Given the description of an element on the screen output the (x, y) to click on. 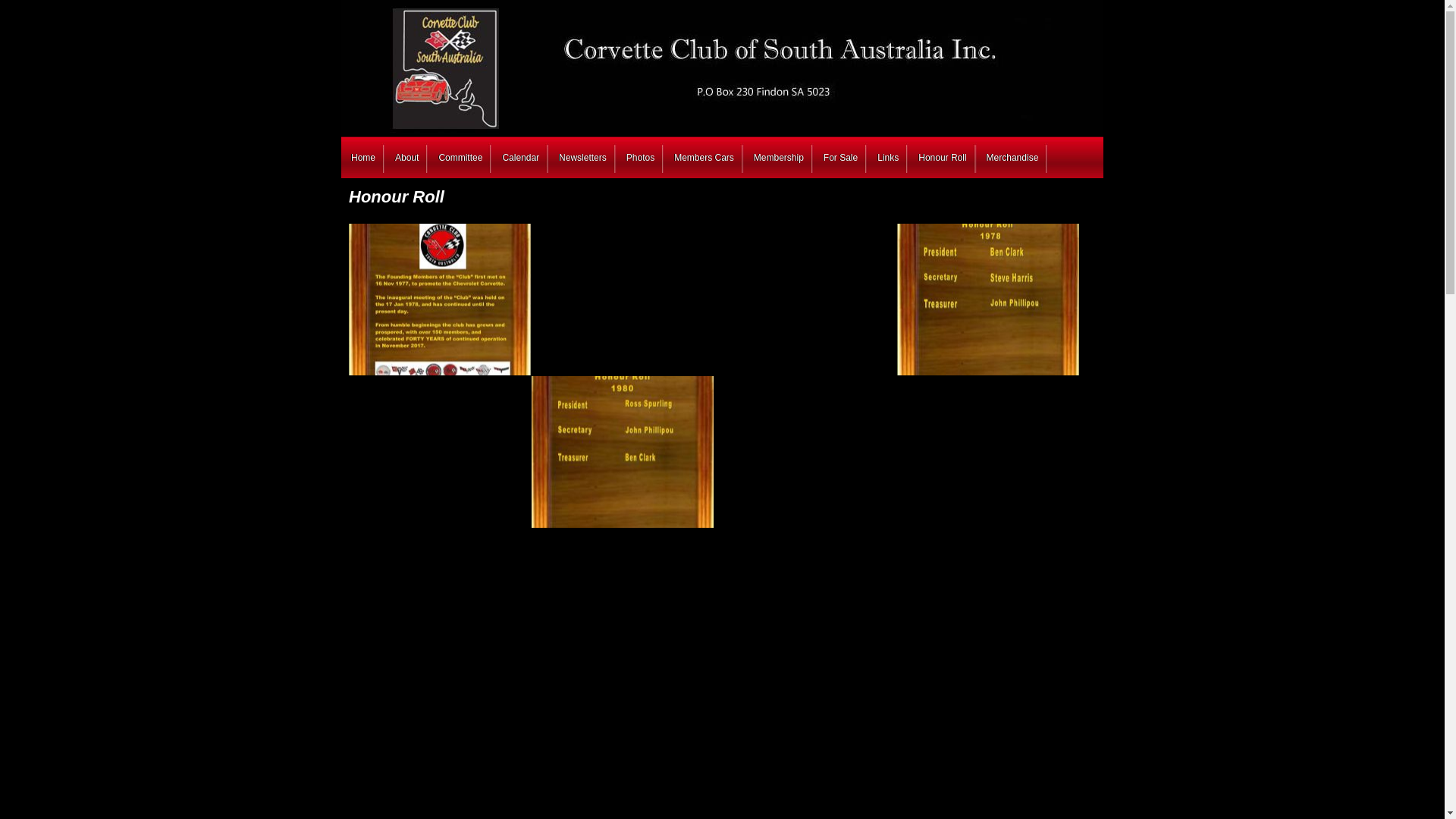
You are viewing the image with filename 1986.jpg Element type: hover (988, 604)
For Sale Element type: text (840, 154)
You are viewing the image with filename 1982.jpg Element type: hover (988, 451)
Committee Element type: text (460, 154)
Home Element type: text (363, 154)
Merchandise Element type: text (1012, 154)
About Element type: text (406, 154)
You are viewing the image with filename 1983.jpg Element type: hover (439, 604)
Links Element type: text (887, 154)
You are viewing the image with filename 1980.jpg Element type: hover (622, 451)
Newsletters Element type: text (582, 154)
You are viewing the image with filename 1978.jpg Element type: hover (988, 299)
Membership Element type: text (778, 154)
Calendar Element type: text (520, 154)
You are viewing the image with filename 1977.jpg Element type: hover (805, 299)
You are viewing the image with filename 1.jpg Element type: hover (439, 299)
You are viewing the image with filename 1985.jpg Element type: hover (805, 604)
You are viewing the image with filename 1979.jpg Element type: hover (439, 451)
You are viewing the image with filename 1981.jpg Element type: hover (805, 451)
You are viewing the image with filename 1984.jpg Element type: hover (622, 604)
You are viewing the image with filename 11.jpg Element type: hover (622, 299)
Corvette club of South Australia Inc. Element type: text (481, 66)
Honour Roll Element type: text (941, 154)
Photos Element type: text (640, 154)
Members Cars Element type: text (703, 154)
